Given the description of an element on the screen output the (x, y) to click on. 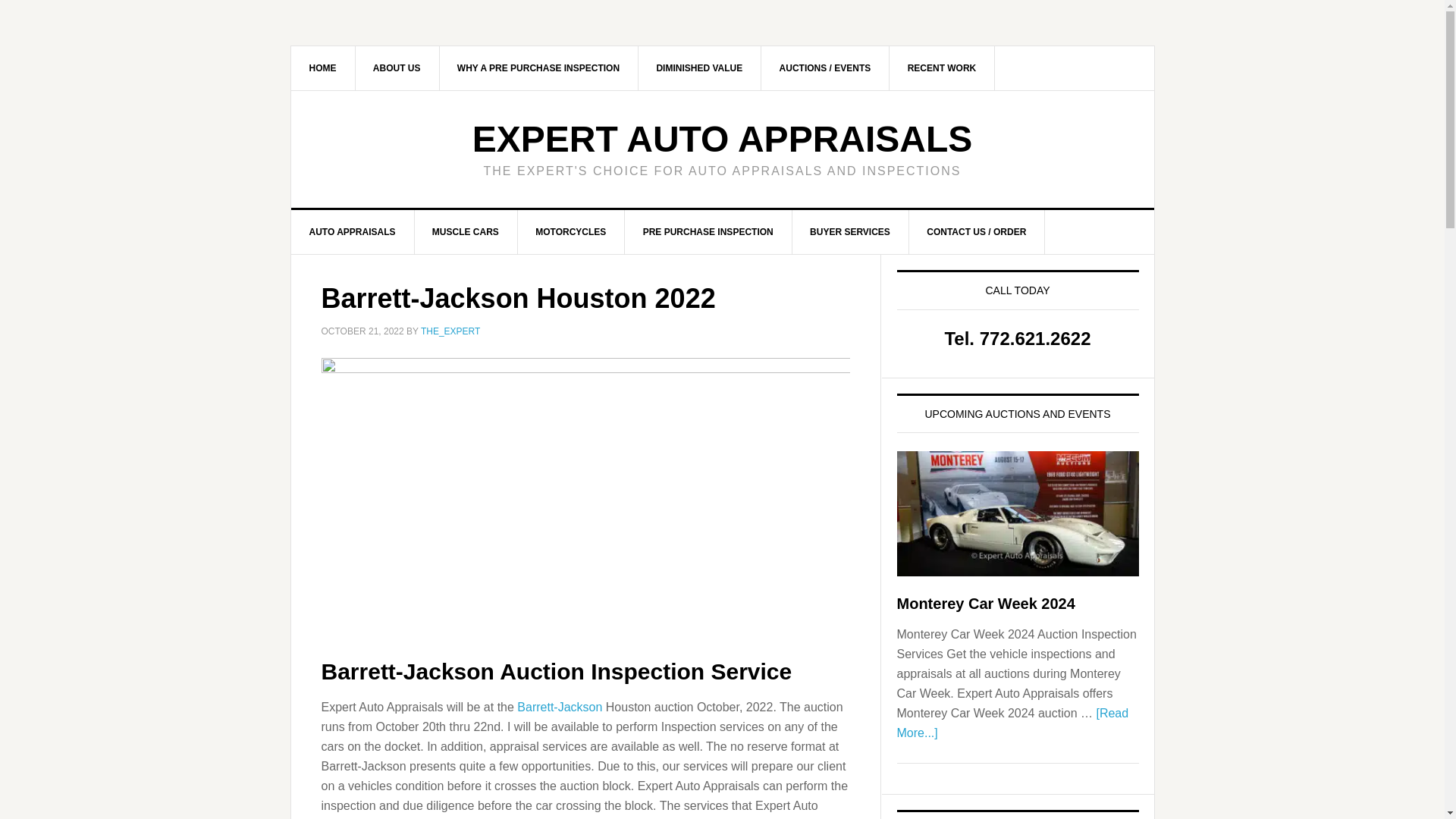
Barrett-Jackson (559, 707)
Monterey Car Week 2024 (985, 603)
MUSCLE CARS (465, 231)
Ebay Buyer Services (850, 231)
AUTO APPRAISALS (352, 231)
WHY A PRE PURCHASE INSPECTION (539, 67)
ABOUT US (397, 67)
BUYER SERVICES (850, 231)
HOME (323, 67)
EXPERT AUTO APPRAISALS (721, 138)
